Given the description of an element on the screen output the (x, y) to click on. 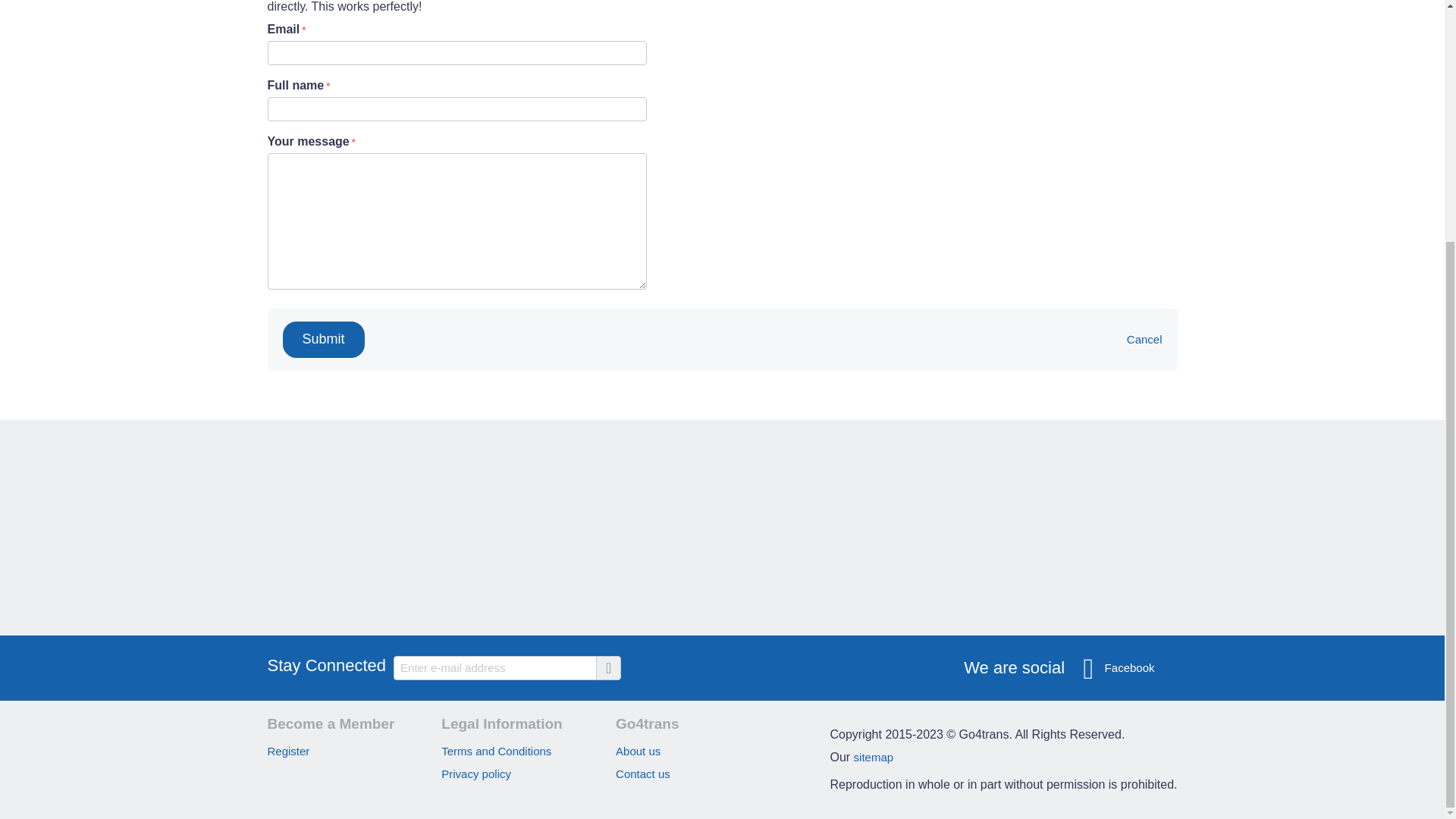
Go (607, 667)
Submit (323, 339)
Terms and Conditions (496, 750)
Enter e-mail address (507, 668)
Facebook (1118, 668)
Privacy policy (476, 773)
Register (287, 750)
sitemap (873, 757)
Cancel (1143, 338)
